Given the description of an element on the screen output the (x, y) to click on. 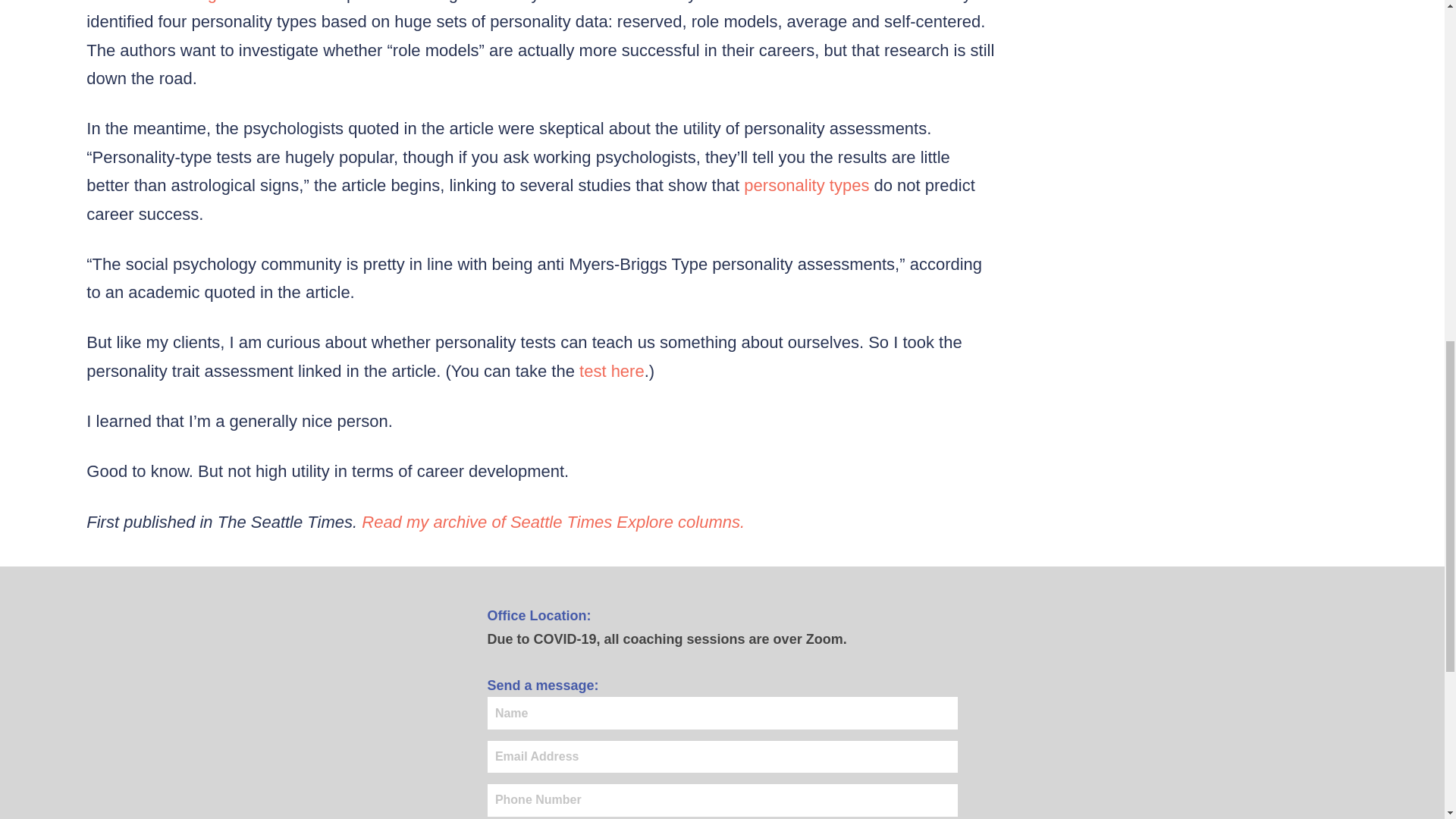
Washington Post (215, 1)
test here (612, 370)
Read my archive of Seattle Times Explore columns. (552, 521)
personality types (806, 185)
